Given the description of an element on the screen output the (x, y) to click on. 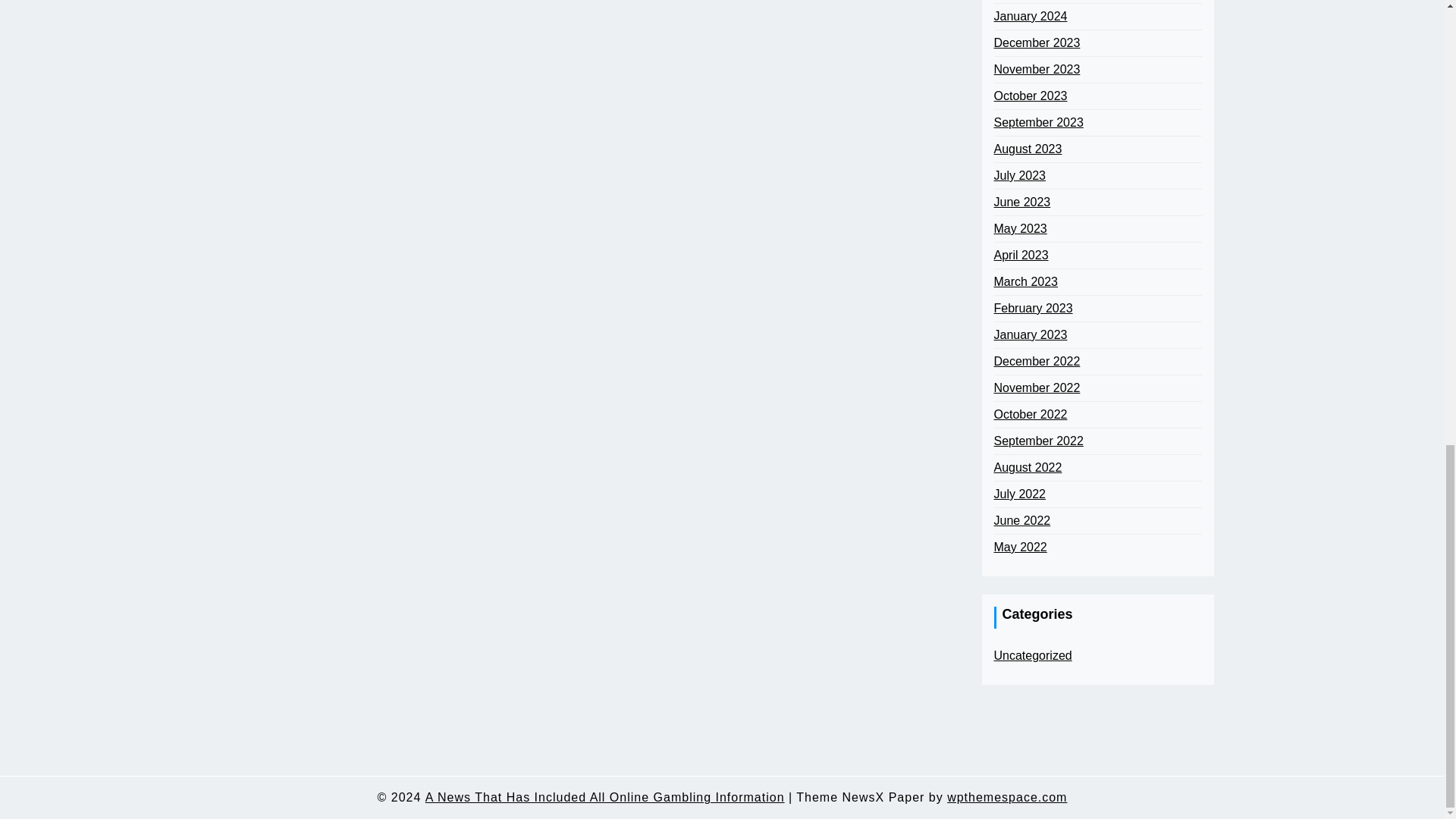
August 2023 (1026, 149)
September 2023 (1037, 122)
March 2023 (1025, 281)
December 2022 (1036, 361)
December 2023 (1036, 43)
May 2023 (1019, 229)
April 2023 (1020, 255)
July 2023 (1018, 176)
November 2023 (1036, 69)
February 2023 (1031, 308)
